Given the description of an element on the screen output the (x, y) to click on. 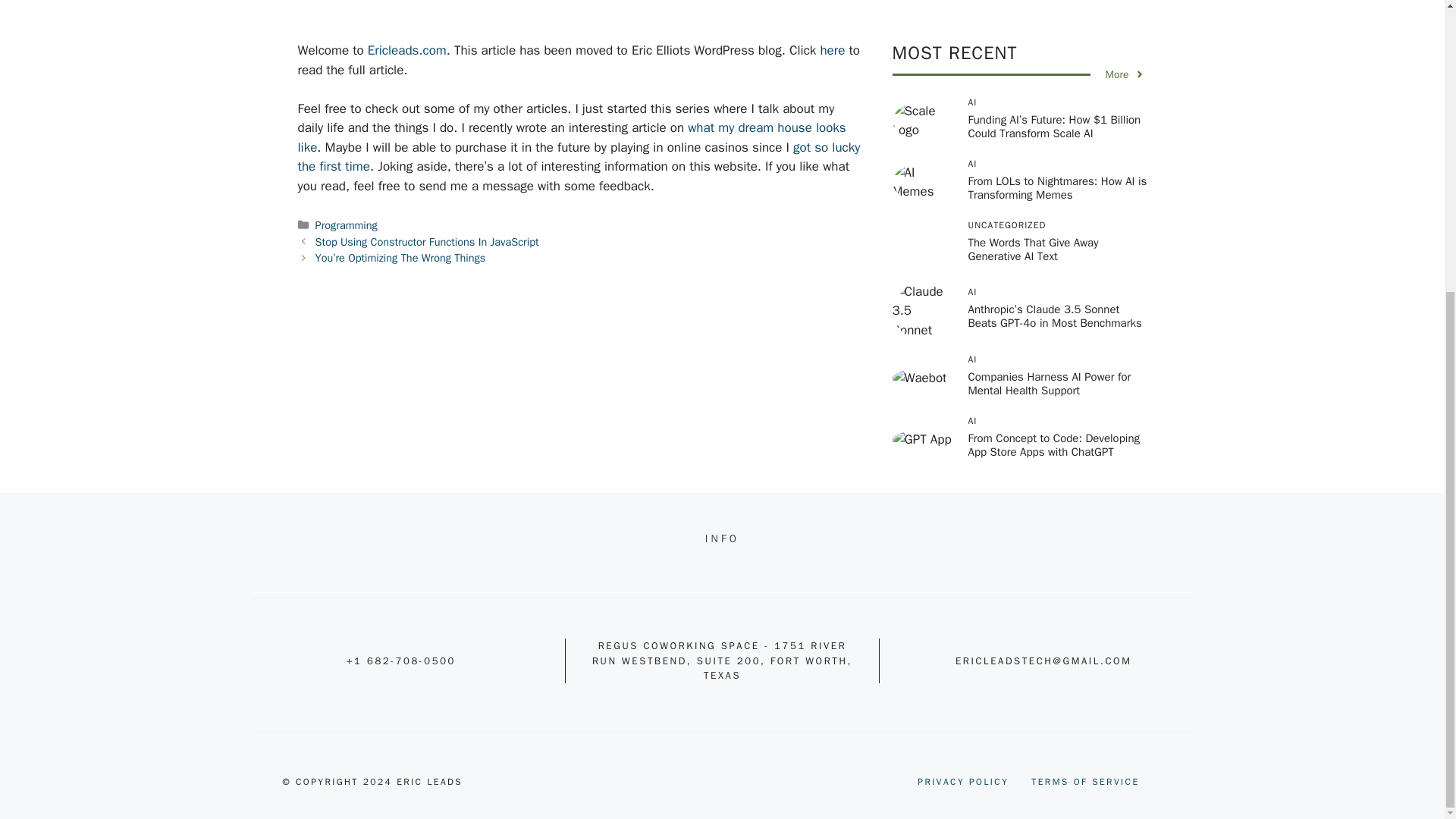
Ericleads.com (407, 50)
More (1124, 74)
From Concept to Code: Developing App Store Apps with ChatGPT (1053, 444)
what my dream house looks like (571, 137)
here (831, 50)
got so lucky the first time (578, 156)
The Words That Give Away Generative AI Text (1032, 248)
Companies Harness AI Power for Mental Health Support (1049, 383)
Stop Using Constructor Functions In JavaScript (426, 241)
Programming (346, 224)
